Given the description of an element on the screen output the (x, y) to click on. 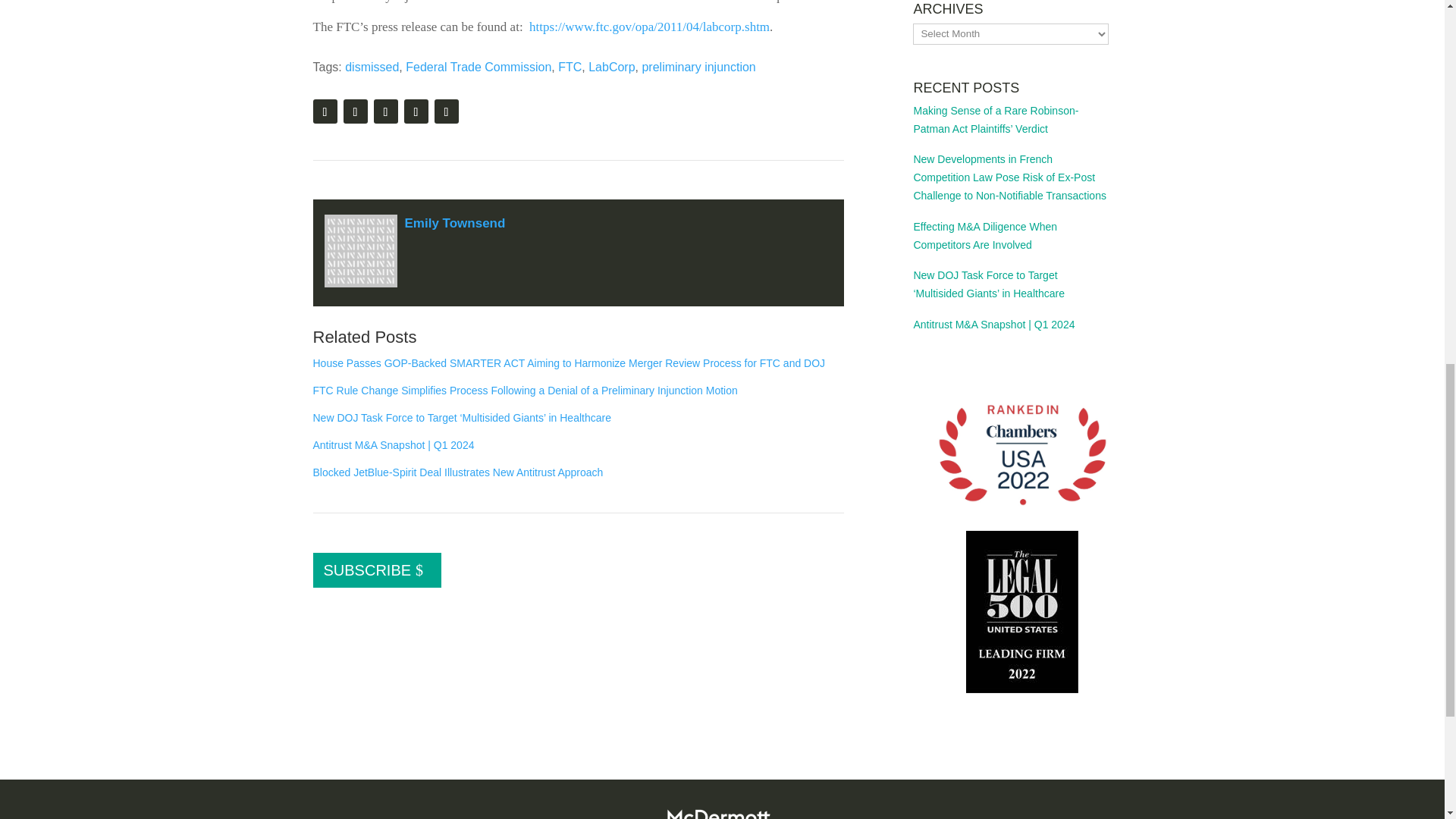
Print (324, 111)
Share on LinkedIn (445, 111)
Ranked In - Chambers USA 2022 (1022, 456)
E-Mail (354, 111)
Share on Facebook (415, 111)
Share on Twitter (384, 111)
